Given the description of an element on the screen output the (x, y) to click on. 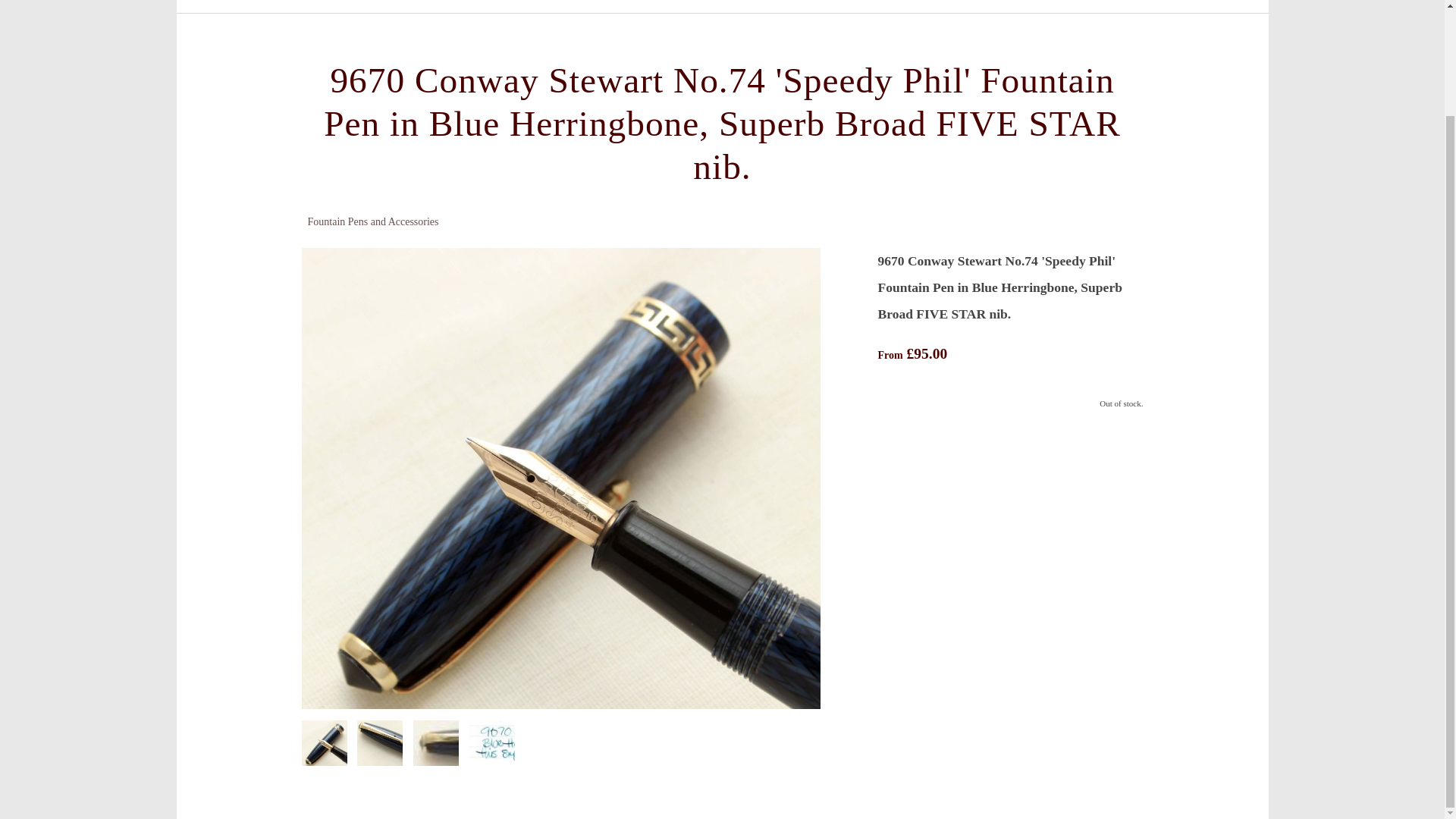
Fountain Pens and Accessories (373, 221)
CONTACT US (1069, 2)
WE BUY PENS (485, 2)
GENERAL INFORMATION (835, 2)
ABOUT US (974, 2)
HOME (352, 2)
SHOP (407, 2)
REPAIRS AND RESTORATIONS (640, 2)
